Given the description of an element on the screen output the (x, y) to click on. 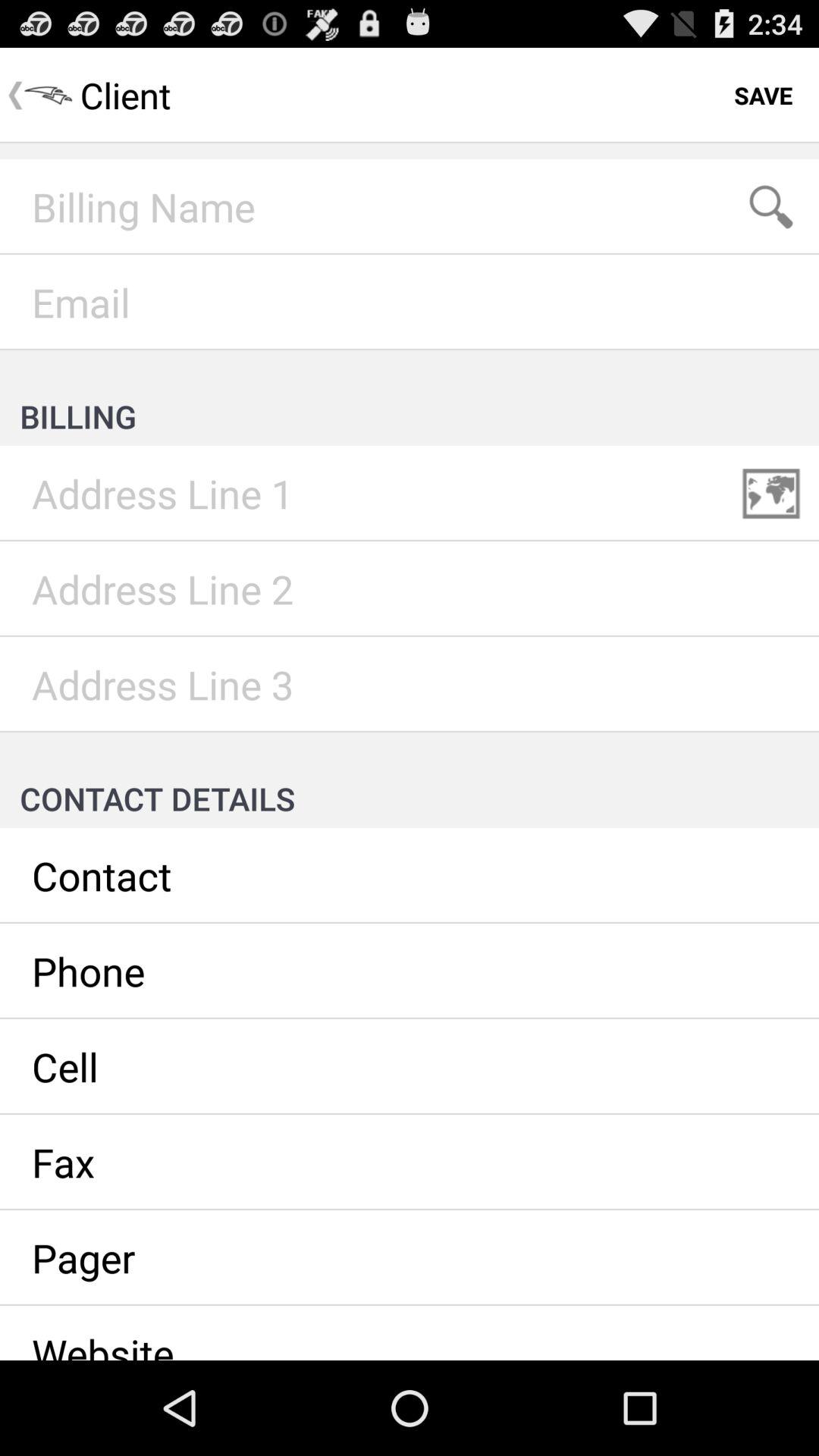
insert billing name (409, 206)
